Given the description of an element on the screen output the (x, y) to click on. 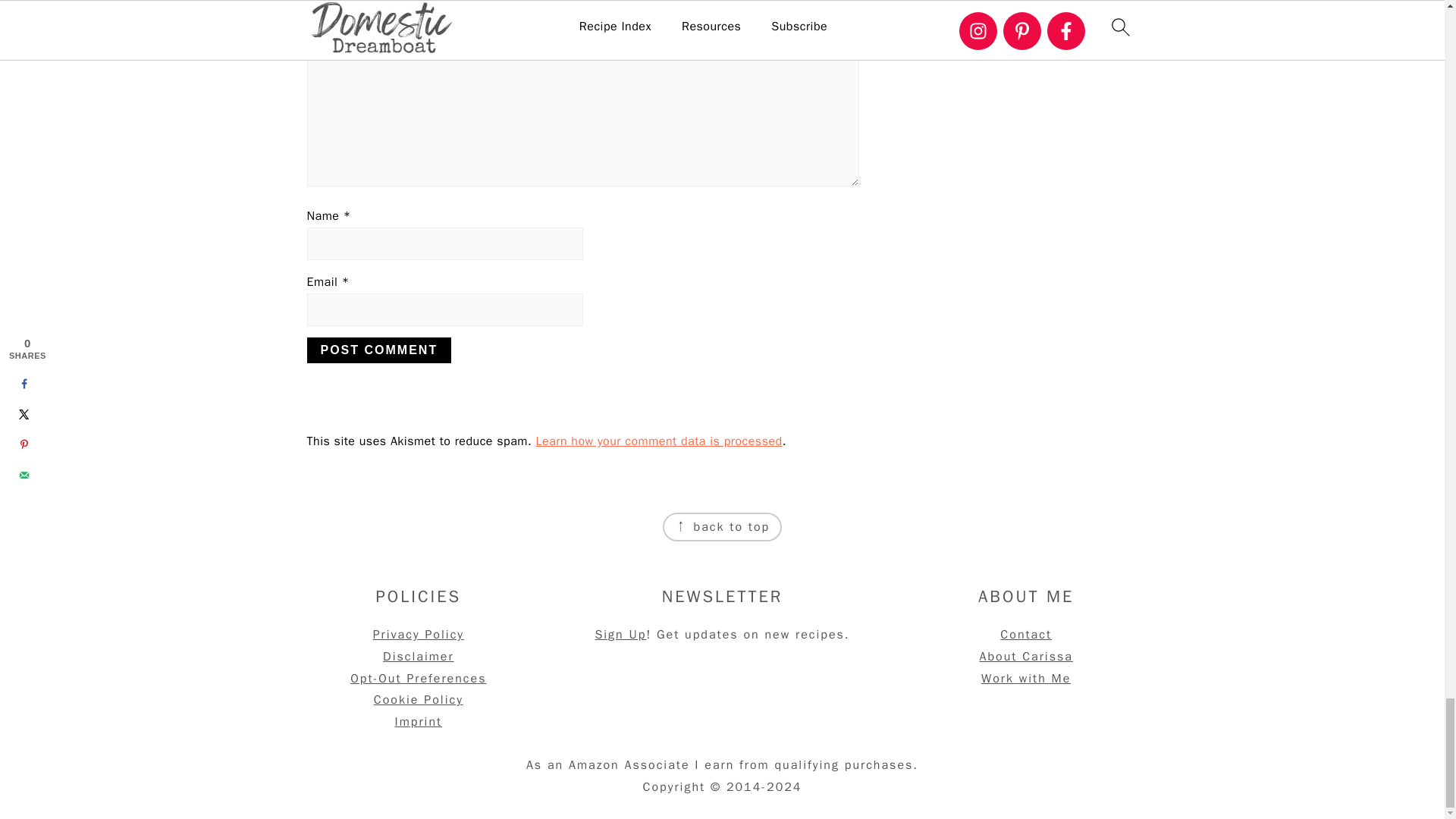
Post Comment (378, 350)
